Given the description of an element on the screen output the (x, y) to click on. 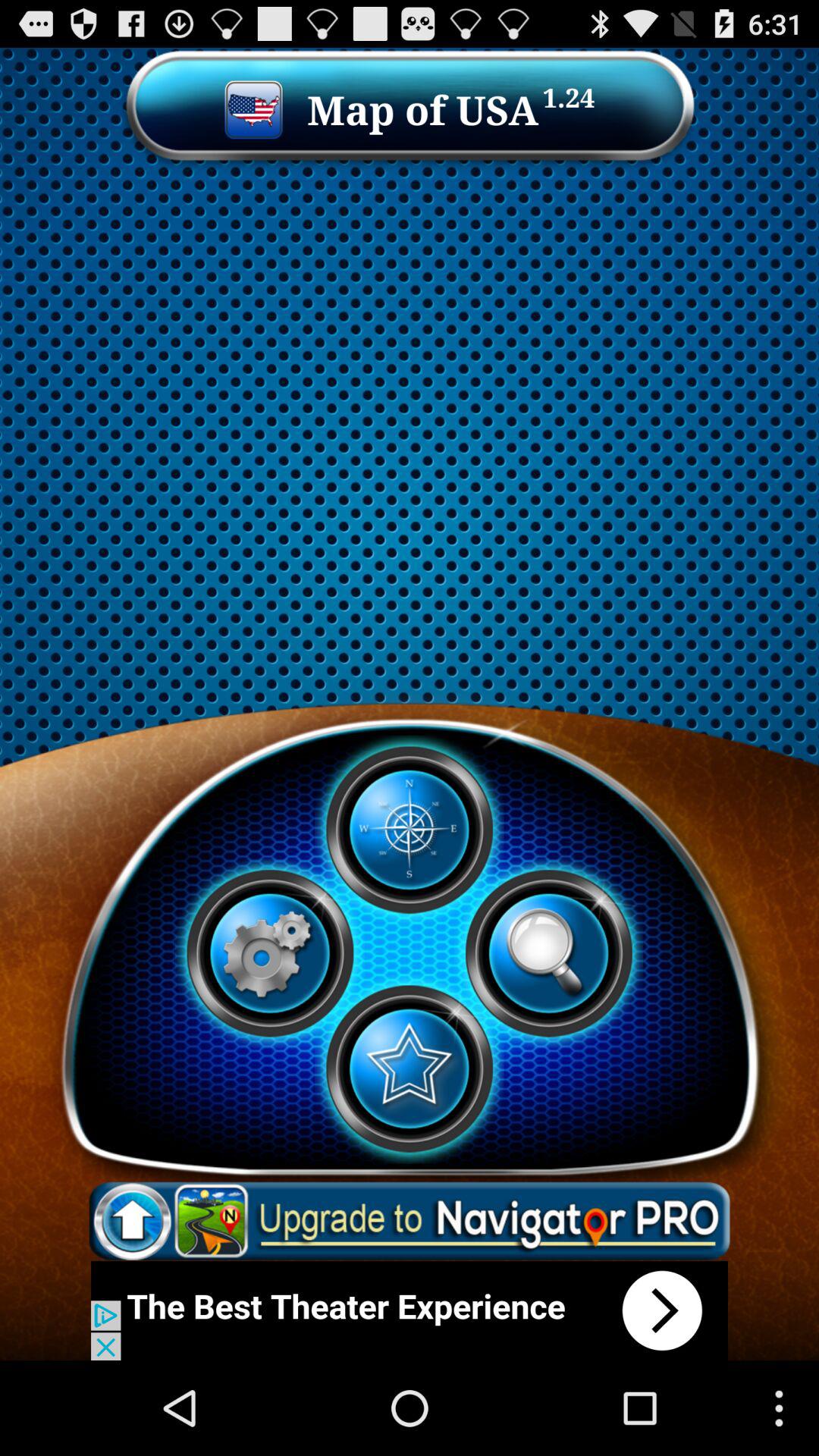
advertisement banner (409, 1310)
